Given the description of an element on the screen output the (x, y) to click on. 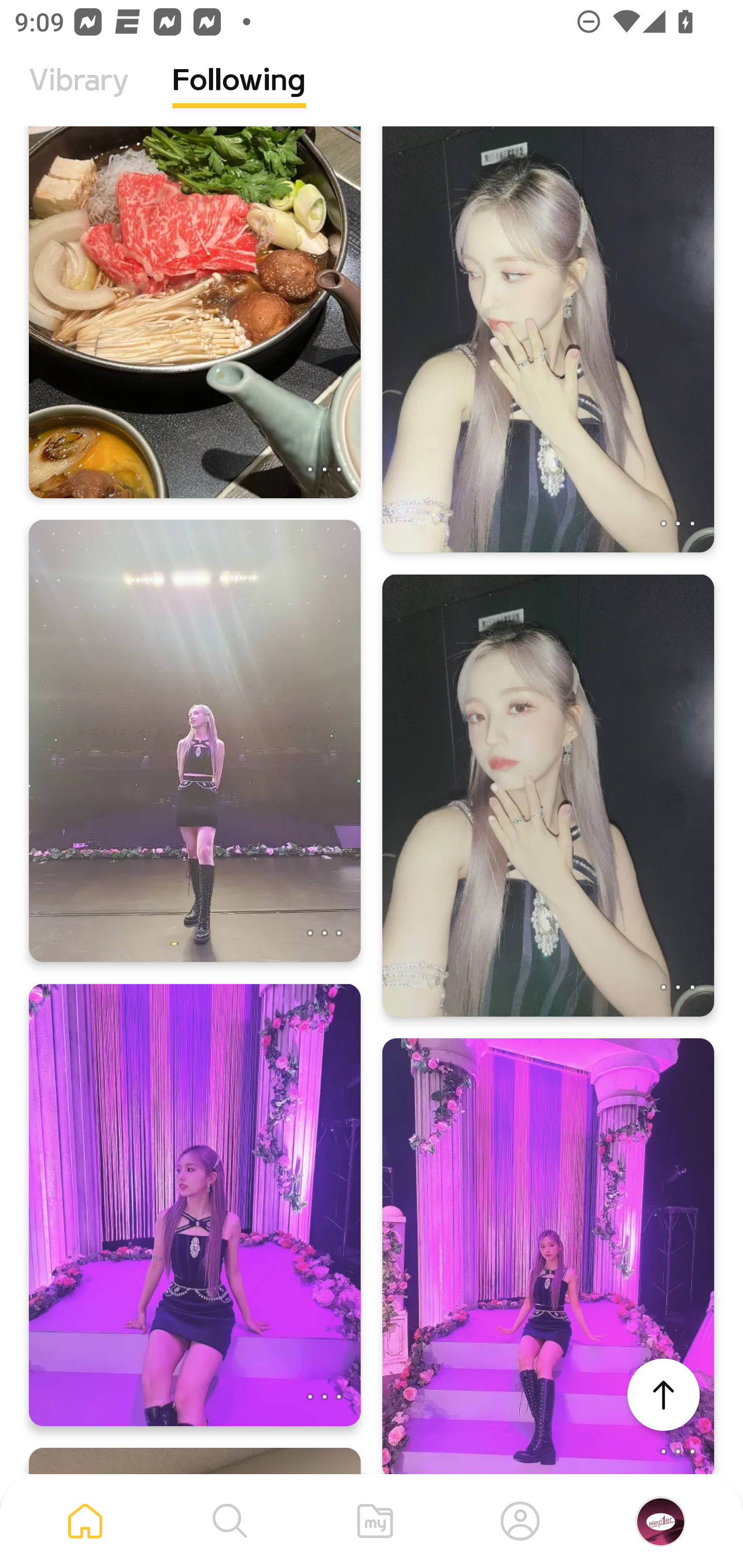
Vibrary (78, 95)
Following (239, 95)
